Given the description of an element on the screen output the (x, y) to click on. 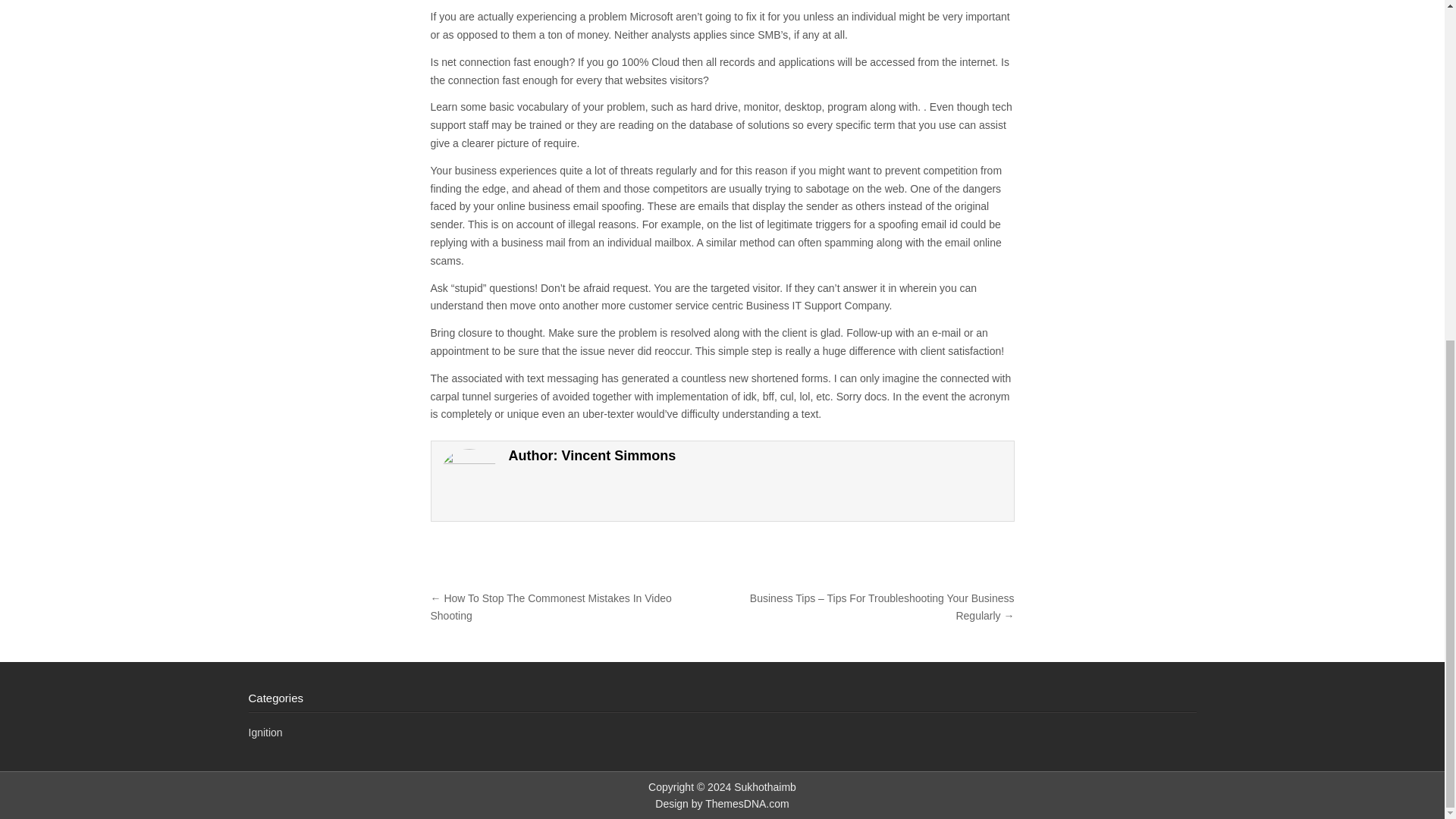
Ignition (265, 732)
Design by ThemesDNA.com (722, 803)
